Given the description of an element on the screen output the (x, y) to click on. 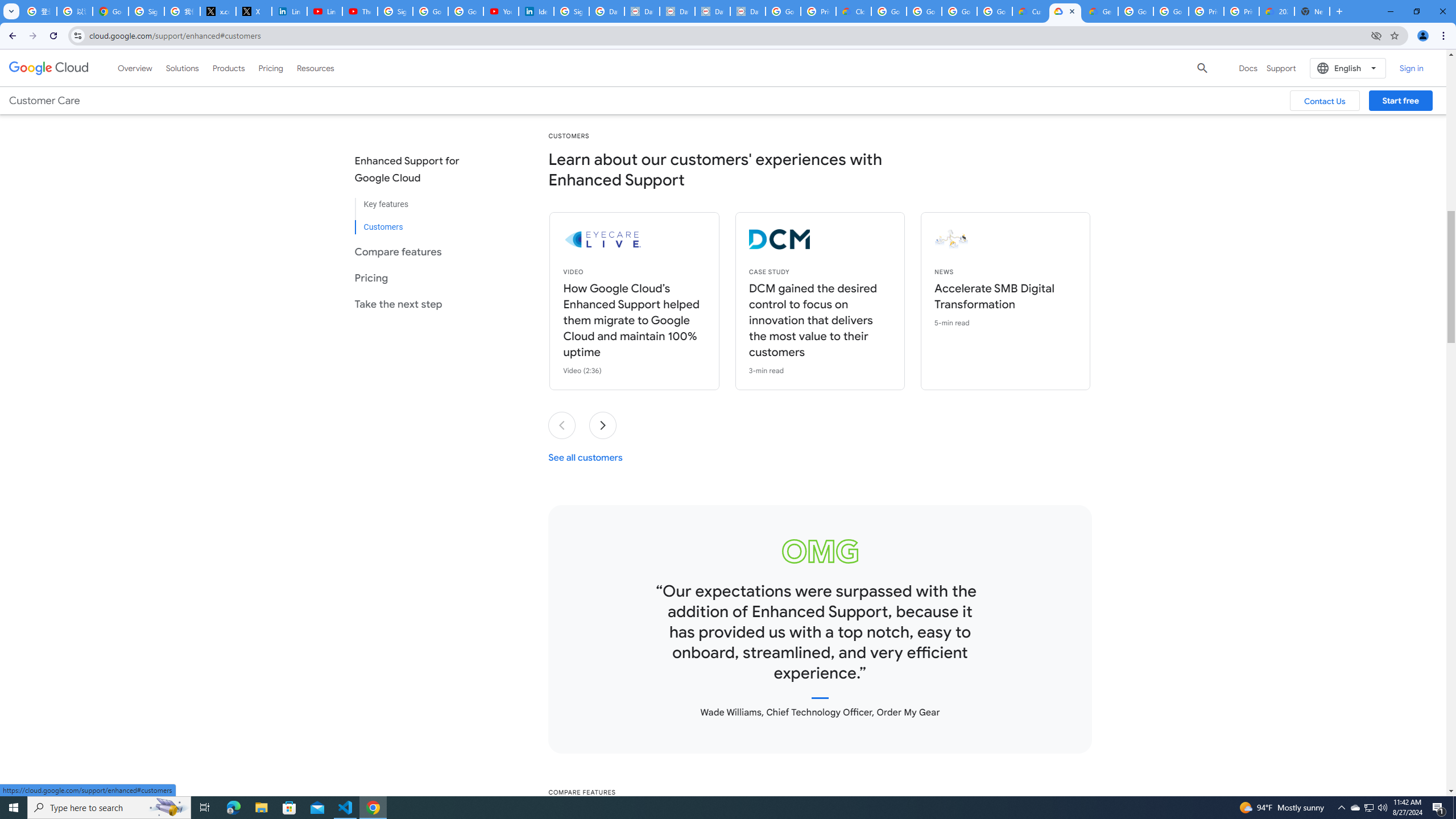
LinkedIn - YouTube (324, 11)
Google Workspace - Specific Terms (959, 11)
Take the next step (416, 303)
